Given the description of an element on the screen output the (x, y) to click on. 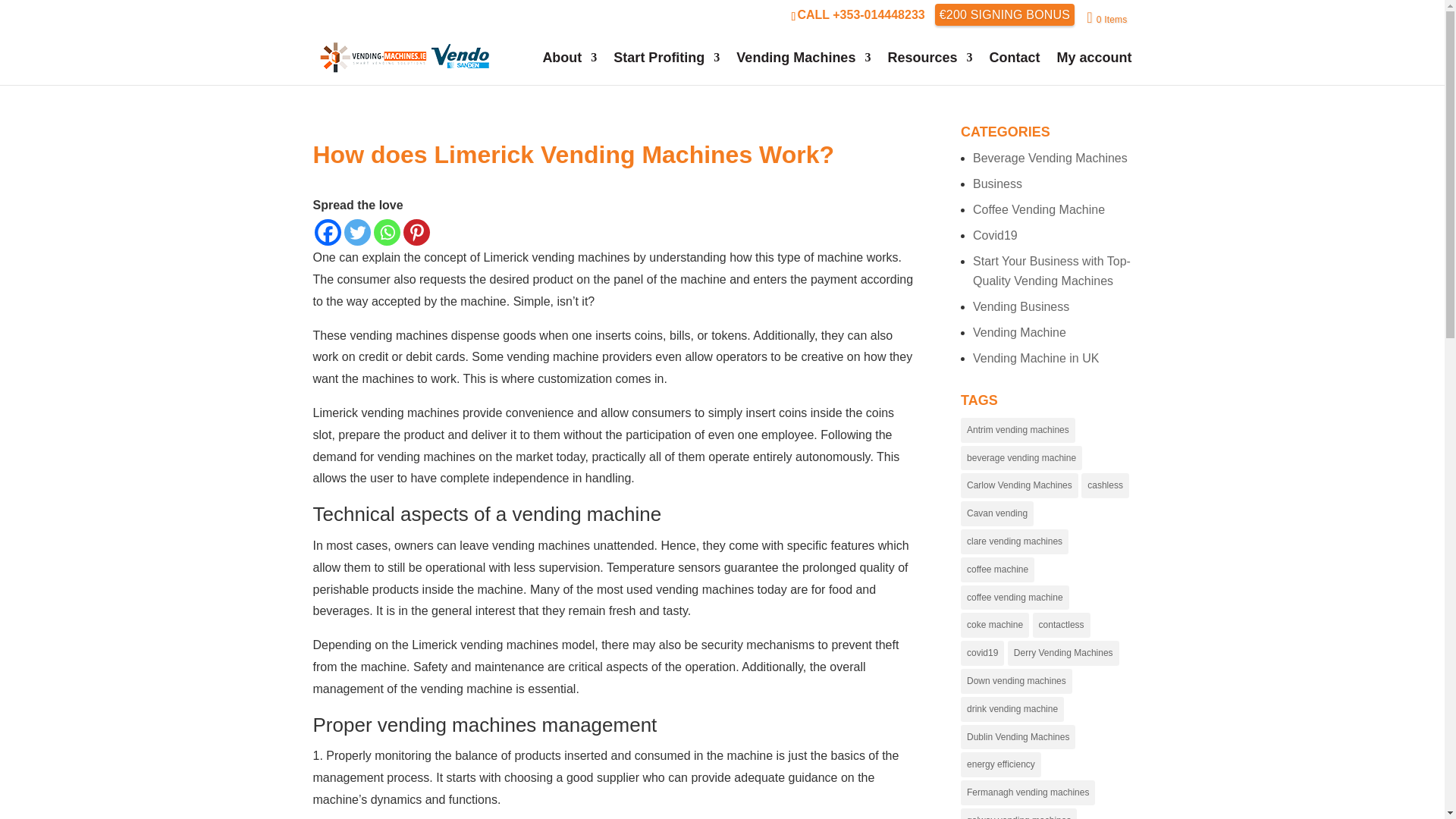
Start Profiting (665, 68)
About (568, 68)
Facebook (327, 232)
Twitter (357, 232)
0 Items (1106, 18)
Pinterest (416, 232)
Vending Machines (803, 68)
Start shopping (1106, 18)
Whatsapp (385, 232)
Resources (929, 68)
